Given the description of an element on the screen output the (x, y) to click on. 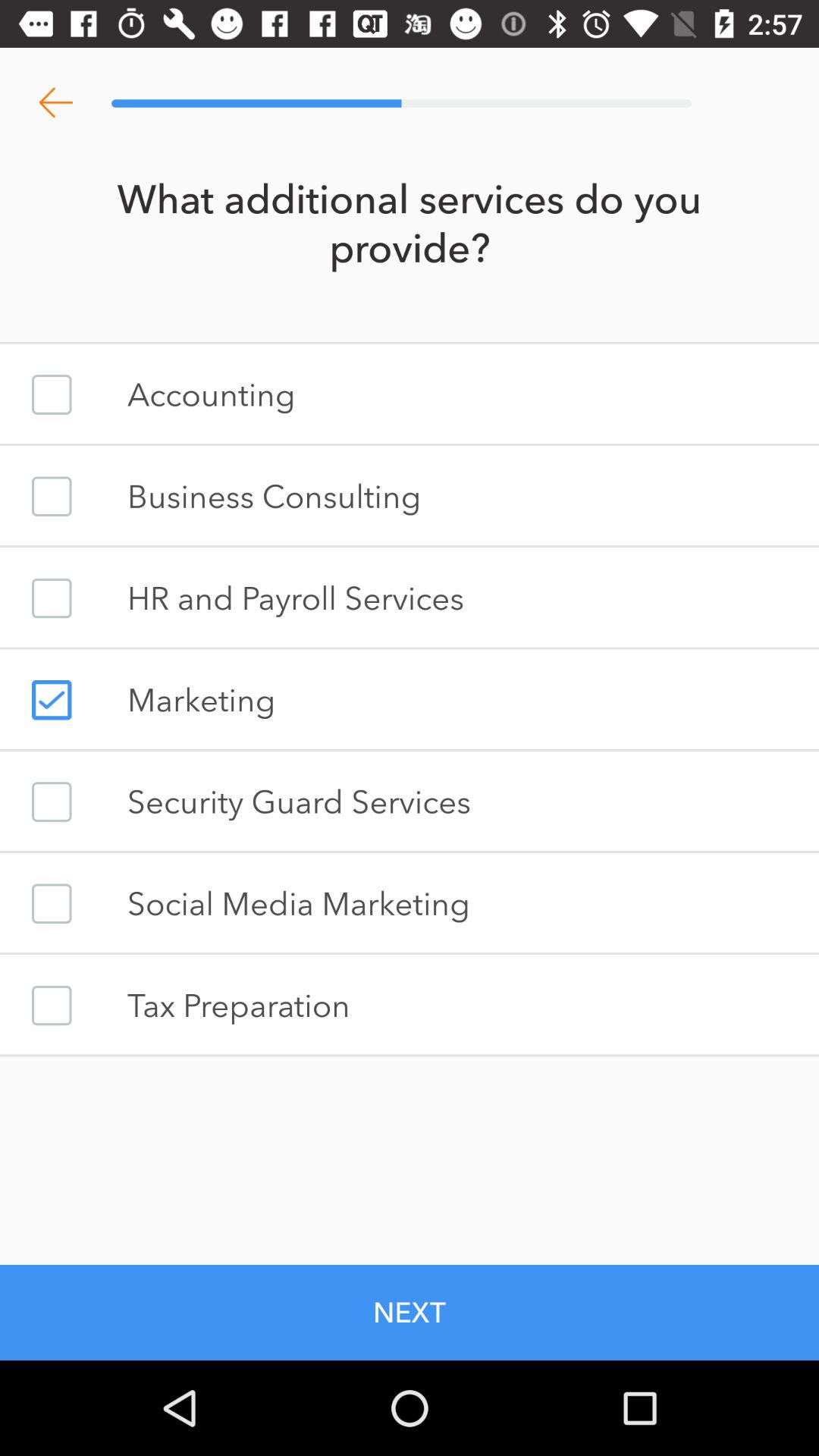
choose item above what additional services (55, 103)
